Given the description of an element on the screen output the (x, y) to click on. 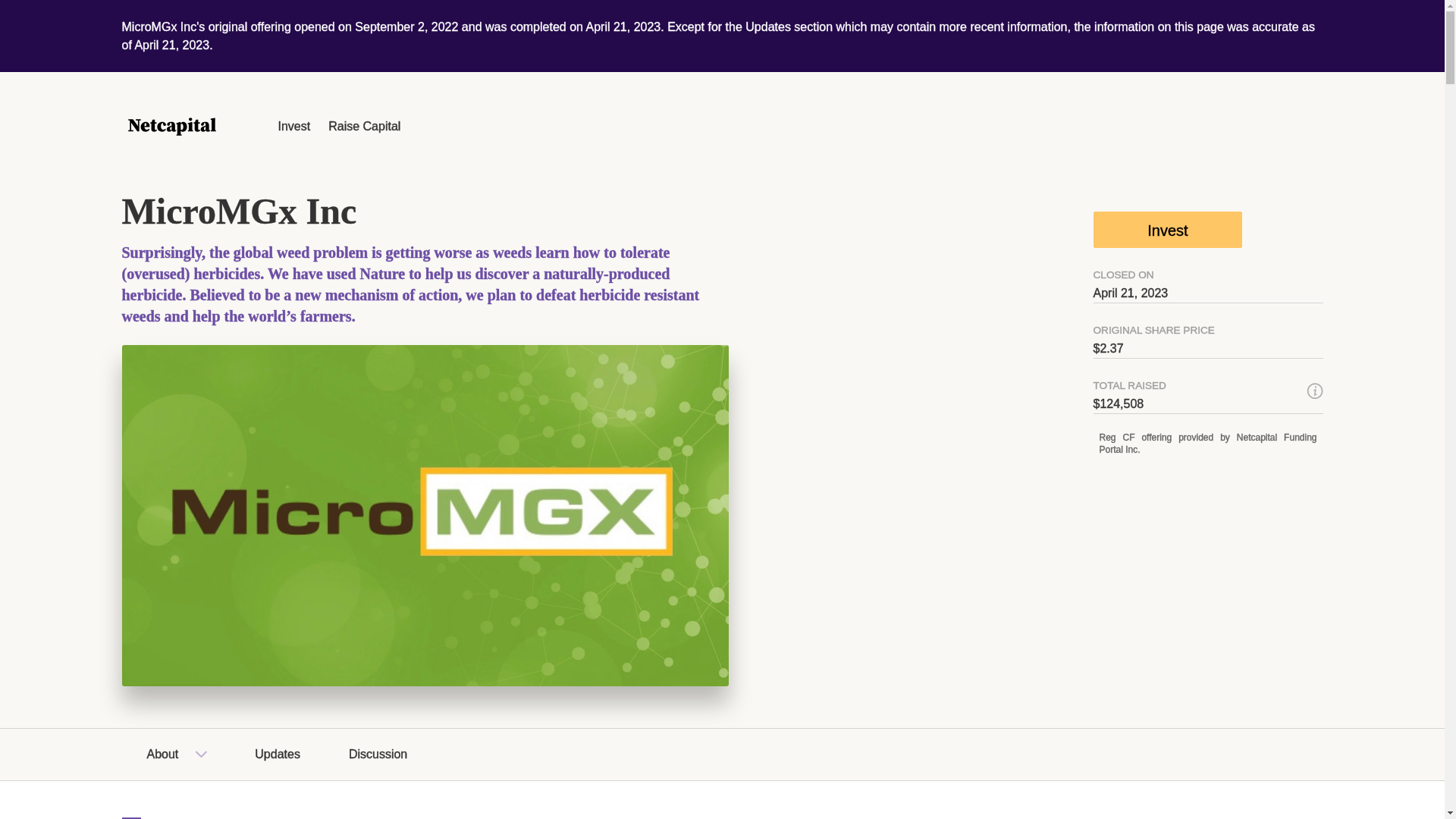
Discussion (377, 753)
Invest (294, 125)
Updates (277, 753)
Raise Capital (364, 125)
About (162, 753)
Invest (1168, 229)
